Given the description of an element on the screen output the (x, y) to click on. 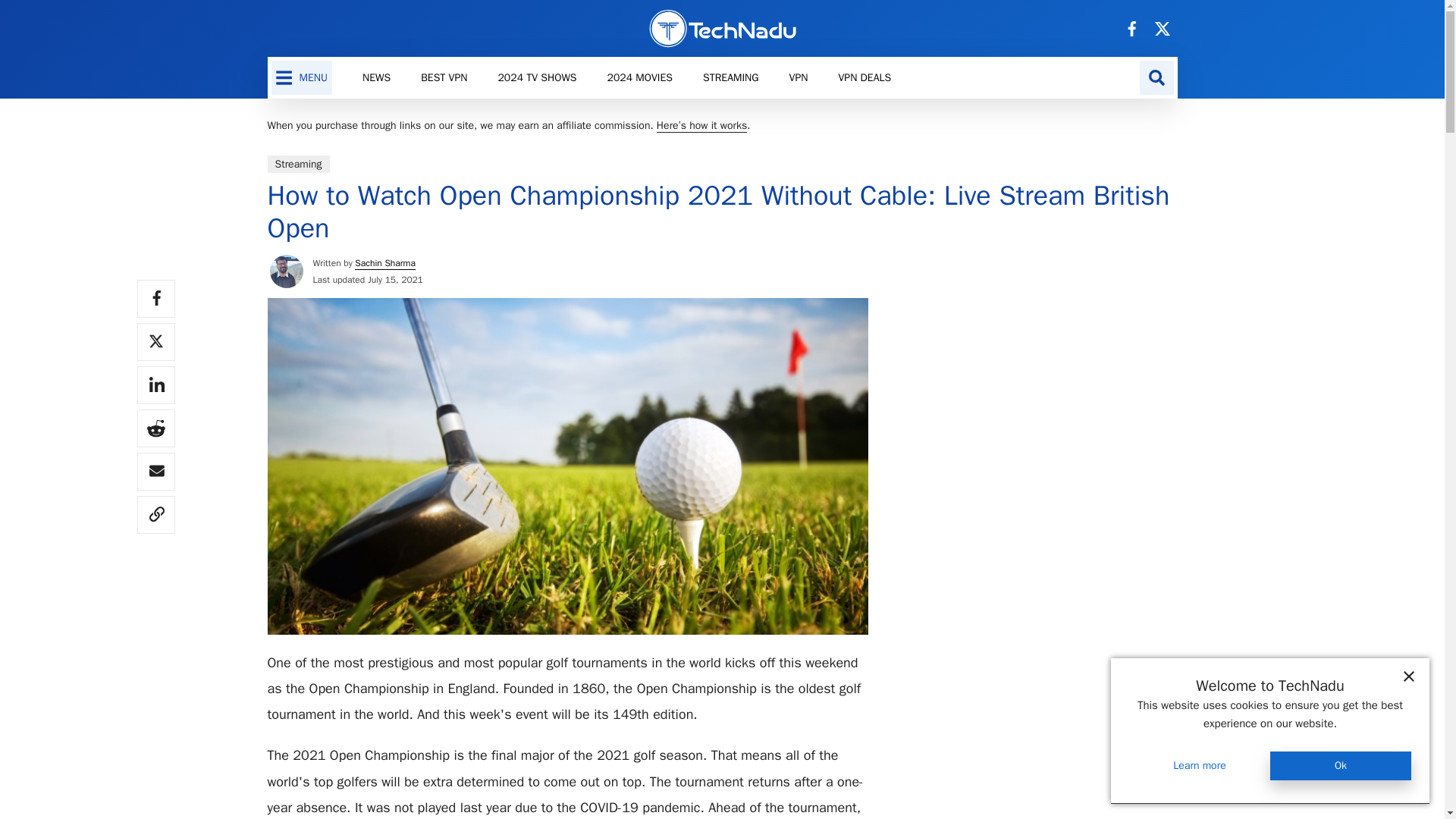
MENU (301, 77)
2024 TV SHOWS (536, 76)
VPN DEALS (863, 76)
Share with Facebook (155, 298)
Share with Linkedin (155, 385)
Find us on X (1161, 27)
Find us on Facebook (1131, 27)
NEWS (376, 76)
